Given the description of an element on the screen output the (x, y) to click on. 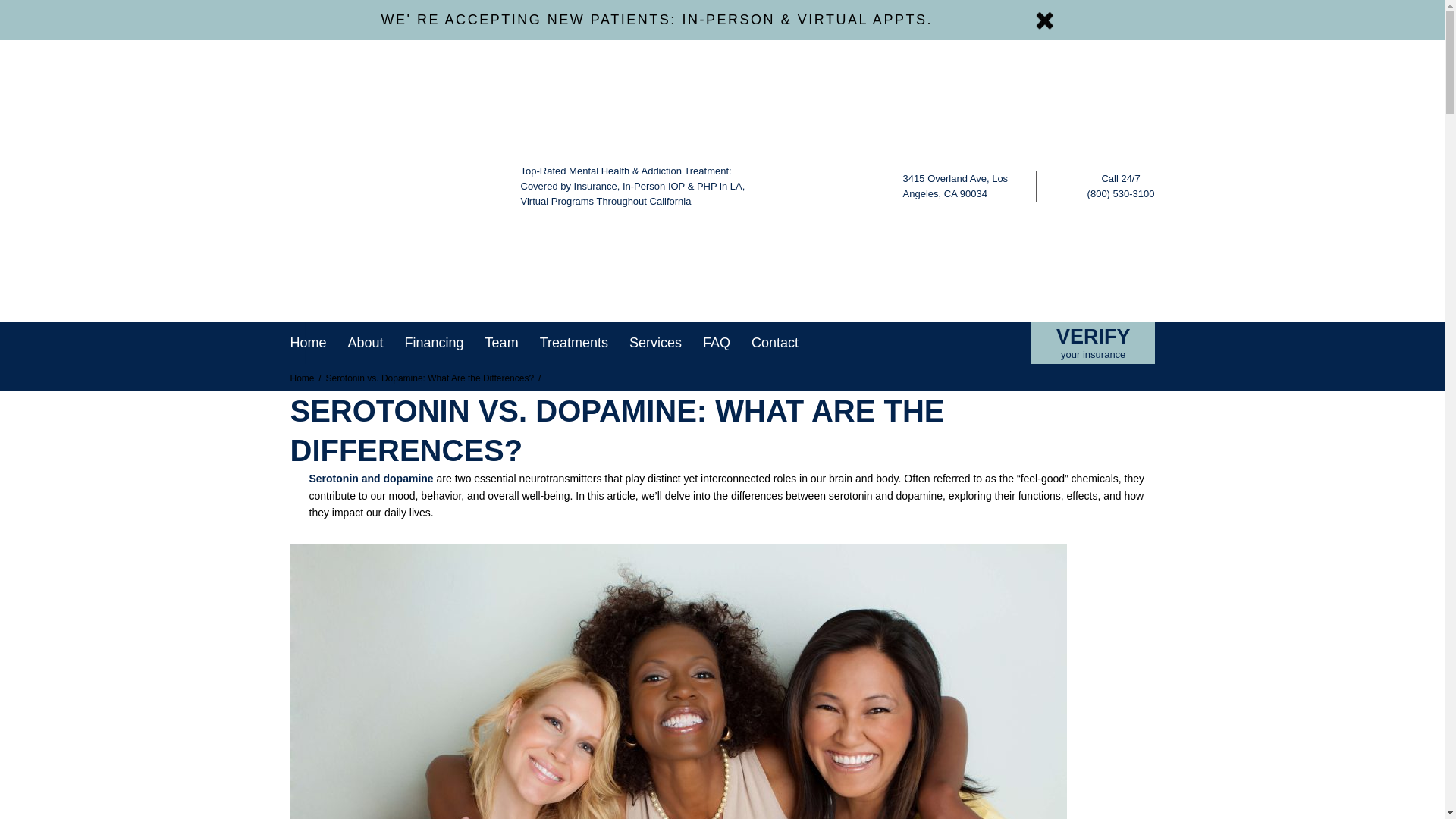
Go to Serotonin vs. Dopamine: What Are the Differences?. (436, 378)
Services (654, 342)
Contact (774, 342)
Treatments (574, 342)
Financing (434, 342)
